Given the description of an element on the screen output the (x, y) to click on. 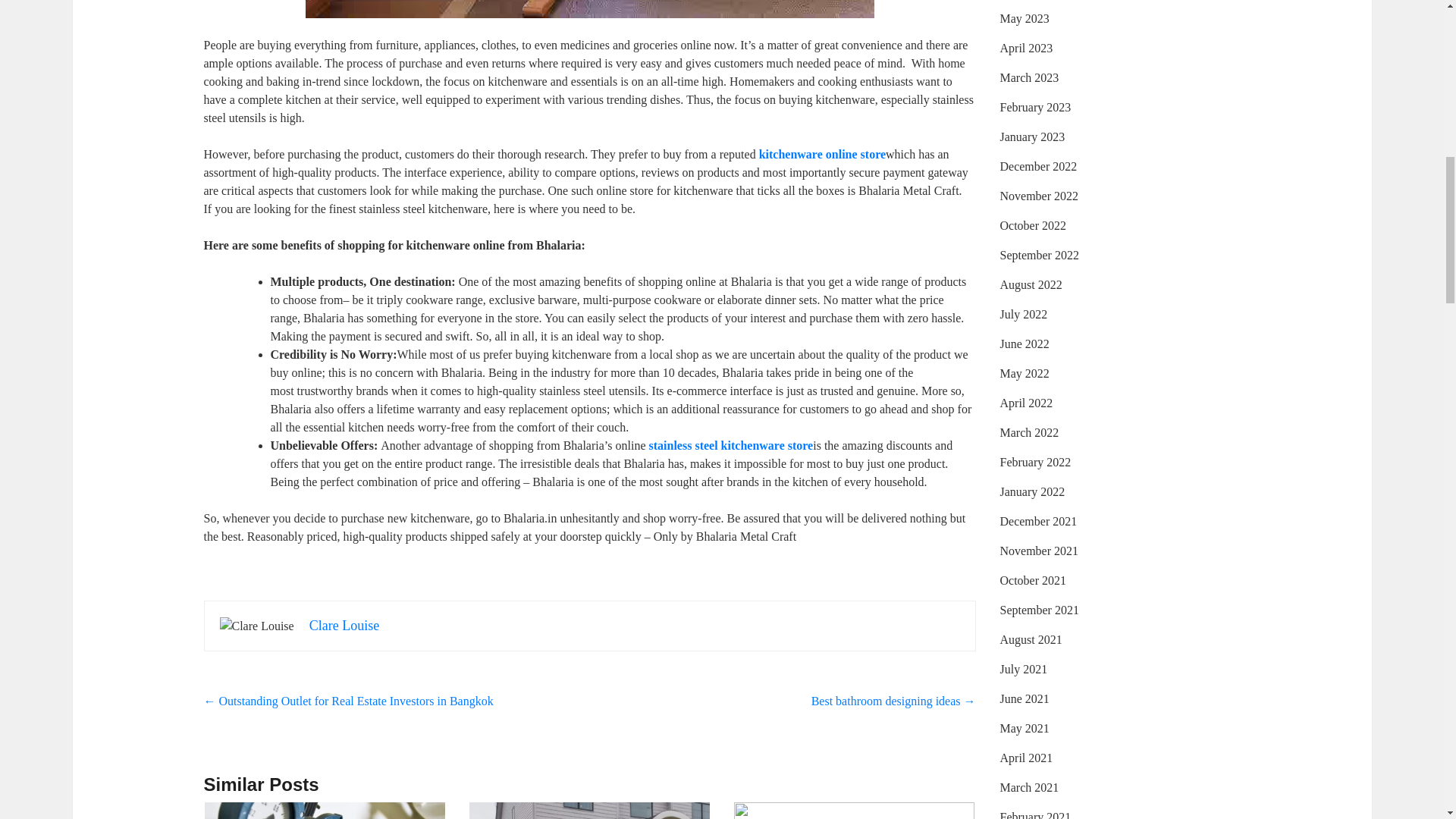
Clare Louise (343, 625)
kitchenware online store (821, 154)
stainless steel kitchenware store (731, 445)
